Given the description of an element on the screen output the (x, y) to click on. 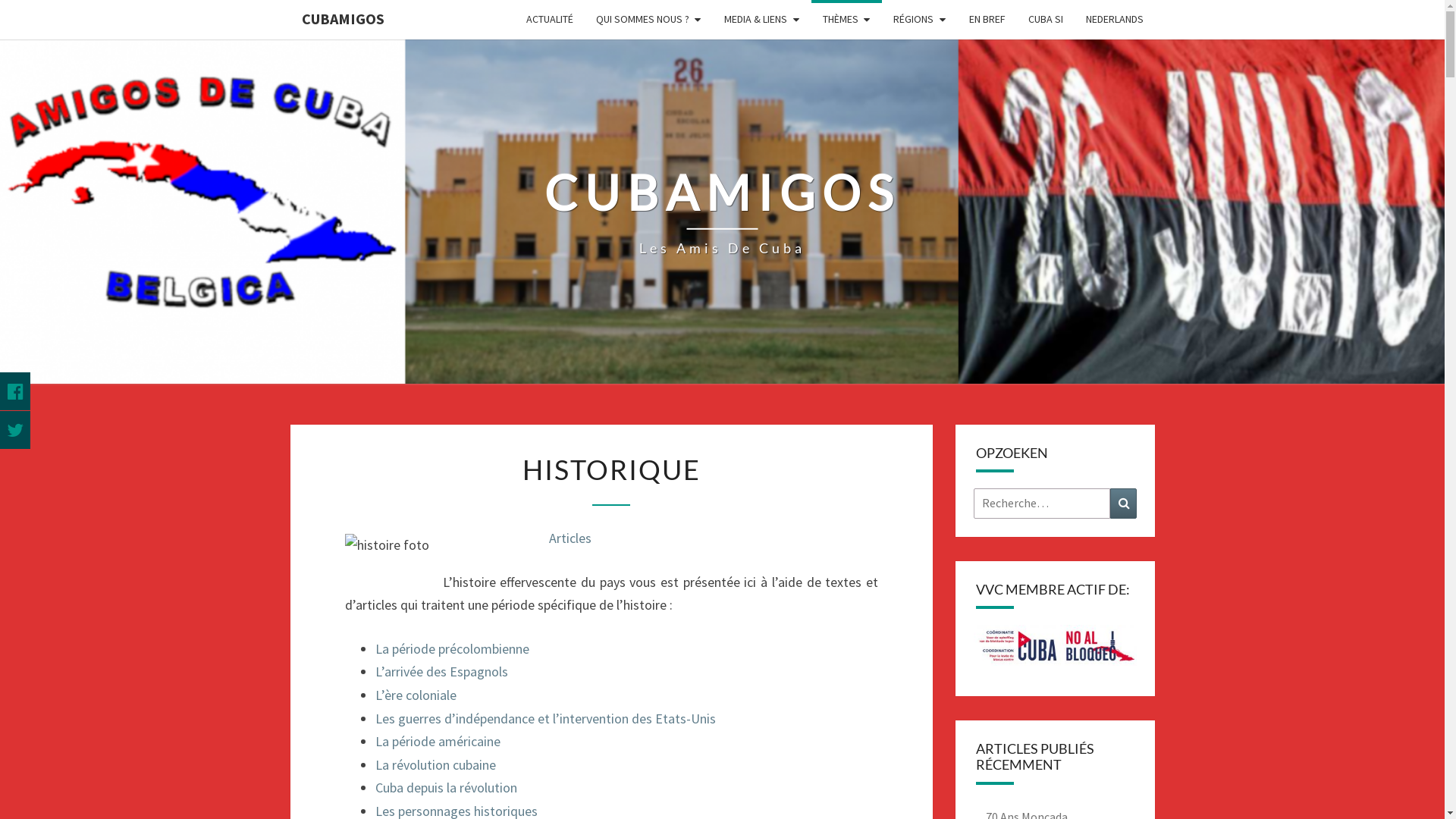
MEDIA & LIENS Element type: text (761, 19)
Recherche Element type: text (1123, 502)
VVC membre actif de: Element type: hover (1054, 644)
Articles Element type: text (568, 537)
EN BREF Element type: text (986, 19)
QUI SOMMES NOUS ? Element type: text (647, 19)
CUBAMIGOS
Les Amis De Cuba Element type: text (722, 211)
CUBA SI Element type: text (1044, 19)
CUBAMIGOS Element type: text (342, 18)
NEDERLANDS Element type: text (1113, 19)
